Given the description of an element on the screen output the (x, y) to click on. 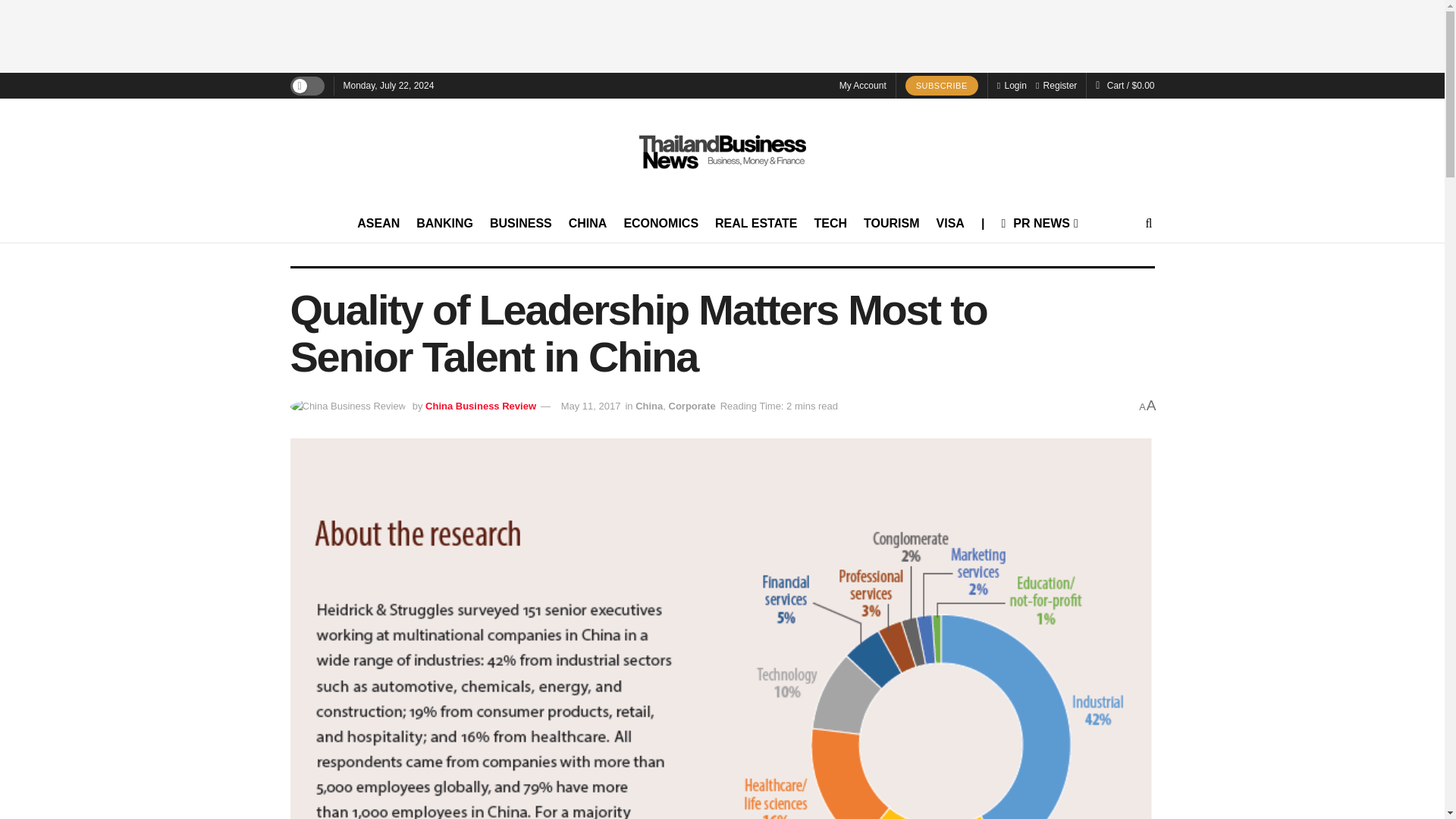
Login (1011, 85)
View your shopping cart (1130, 85)
SUBSCRIBE (941, 85)
CHINA (588, 223)
VISA (949, 223)
TECH (830, 223)
Register (1056, 85)
BANKING (444, 223)
TOURISM (890, 223)
ASEAN (377, 223)
PR NEWS (1038, 223)
ECONOMICS (660, 223)
REAL ESTATE (755, 223)
My Account (863, 85)
